Given the description of an element on the screen output the (x, y) to click on. 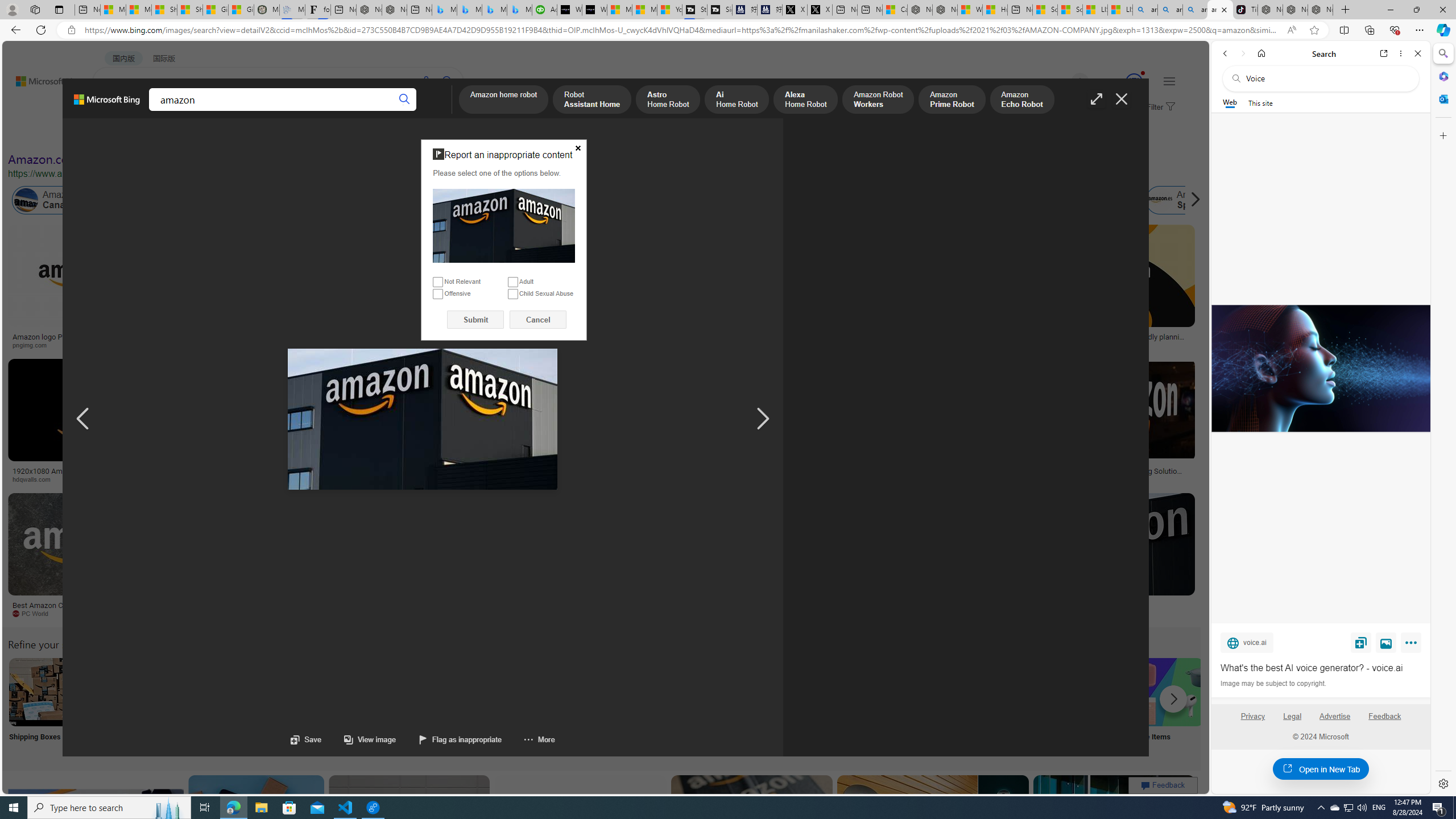
Amazon Prime Membership (753, 200)
Amazon Sale Items (1169, 691)
MAPS (397, 111)
Amazon Online Shopping Search Online Shopping Search (118, 706)
Amazon Echo Robot (1022, 100)
Amazon Prime Online (137, 200)
Package Delivery (418, 706)
